Given the description of an element on the screen output the (x, y) to click on. 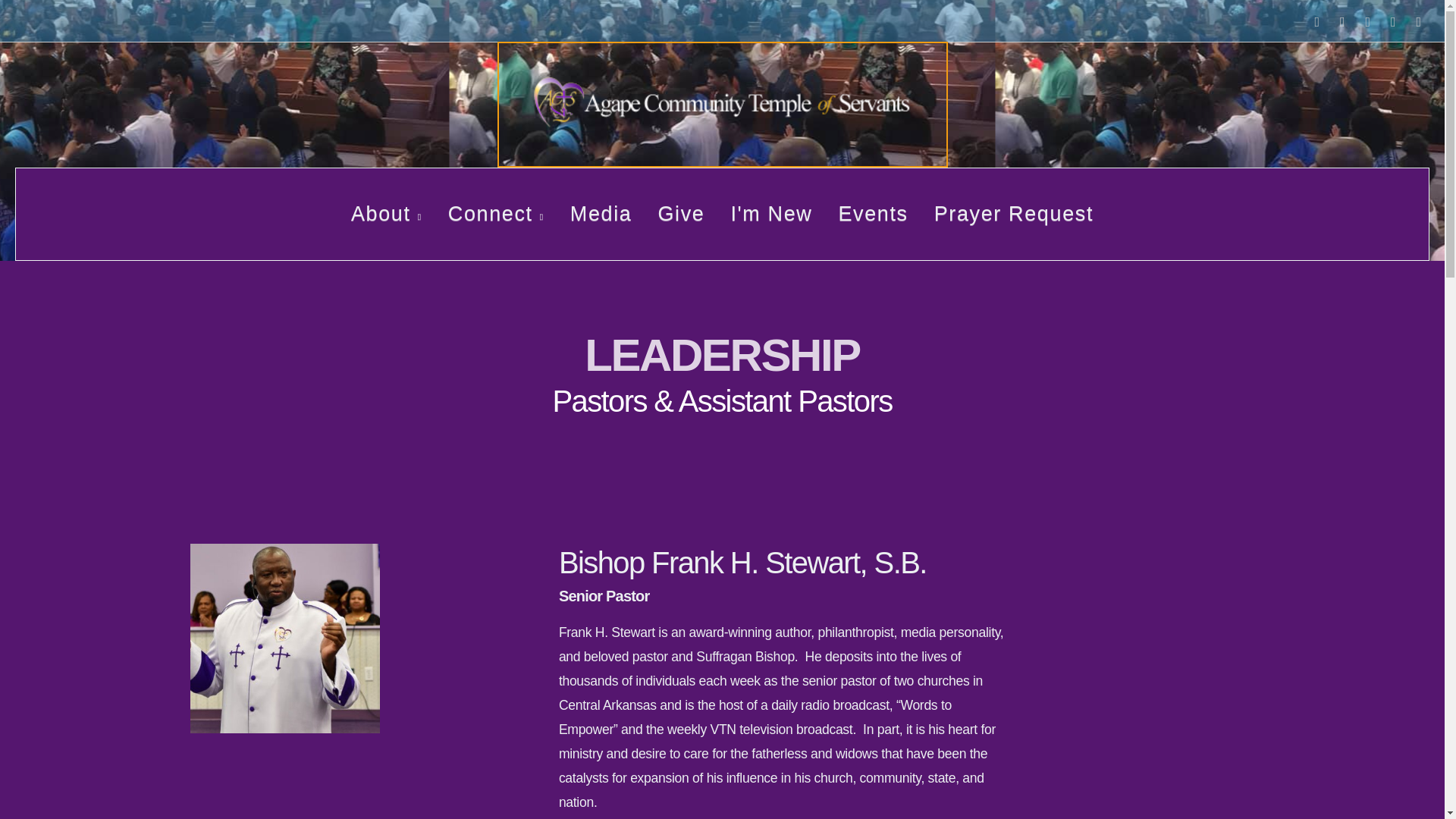
Connect  (496, 213)
Events (872, 213)
Media (601, 213)
Give (681, 213)
I'M New (771, 213)
Prayer Request (1014, 213)
About  (386, 213)
